Given the description of an element on the screen output the (x, y) to click on. 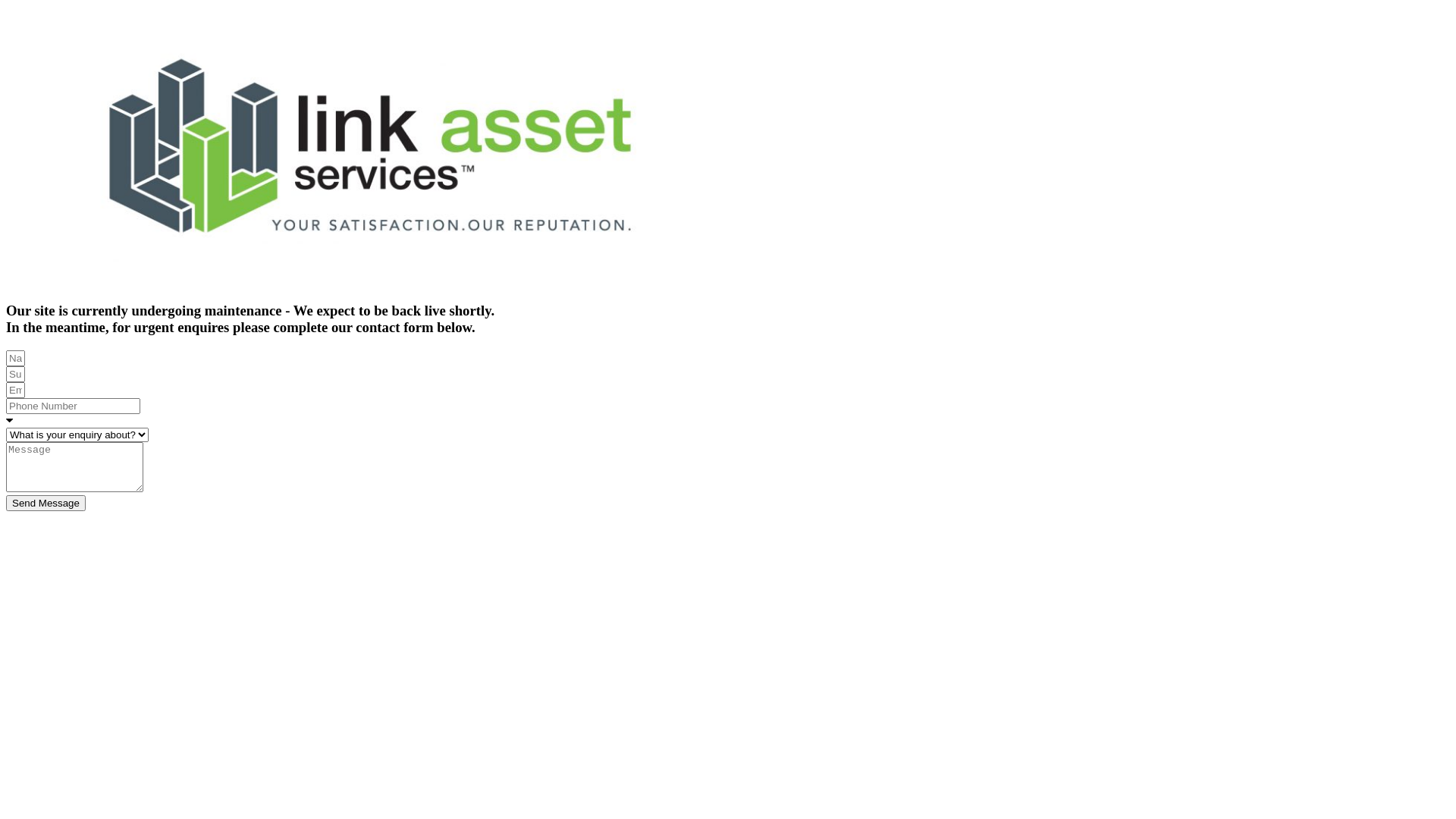
Send Message Element type: text (45, 503)
